Given the description of an element on the screen output the (x, y) to click on. 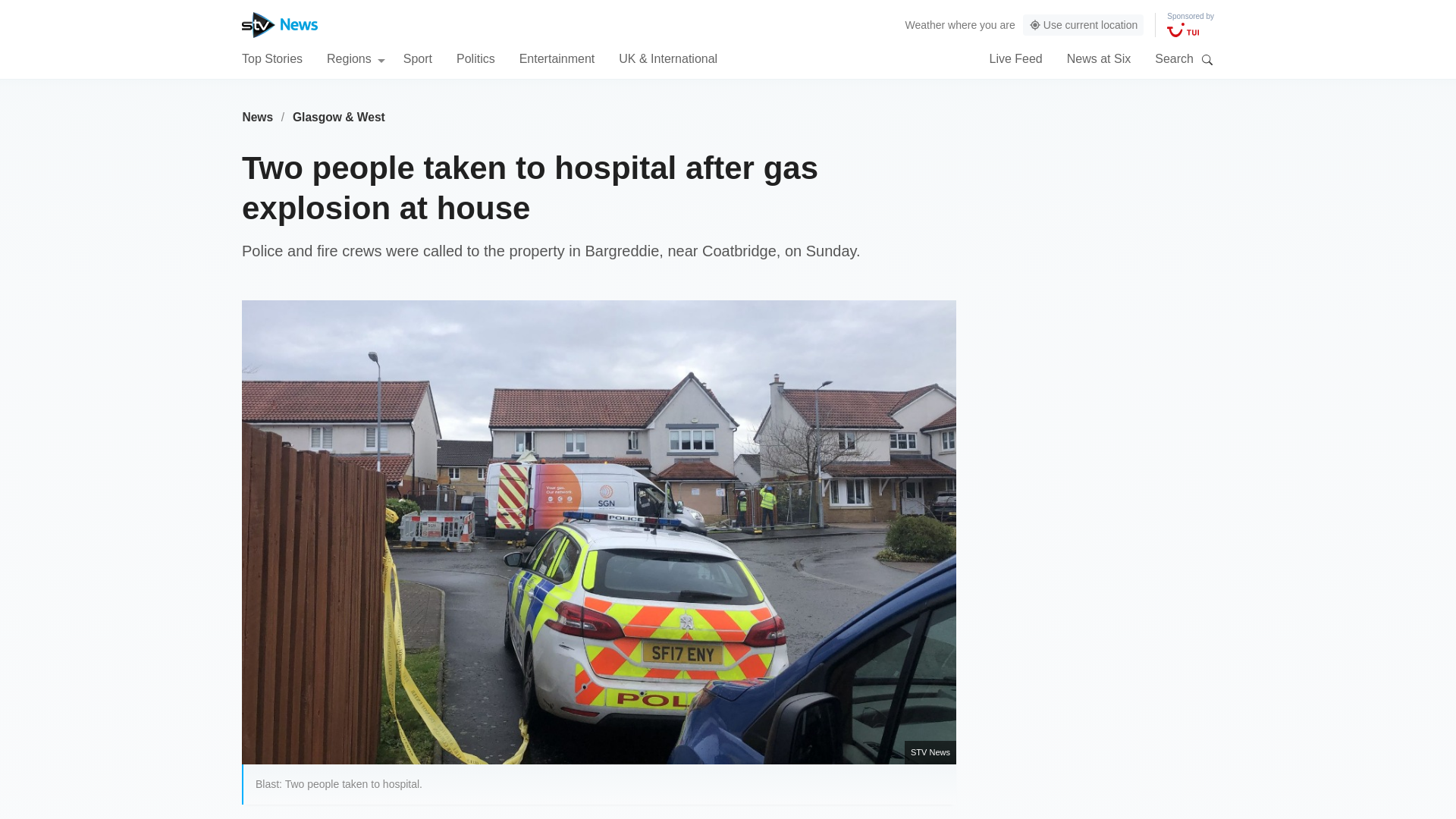
Weather (924, 24)
Use current location (1083, 25)
News (257, 116)
Politics (476, 57)
Search (1206, 59)
Top Stories (271, 57)
Entertainment (557, 57)
News at Six (1099, 57)
Regions (355, 57)
Live Feed (1015, 57)
